Given the description of an element on the screen output the (x, y) to click on. 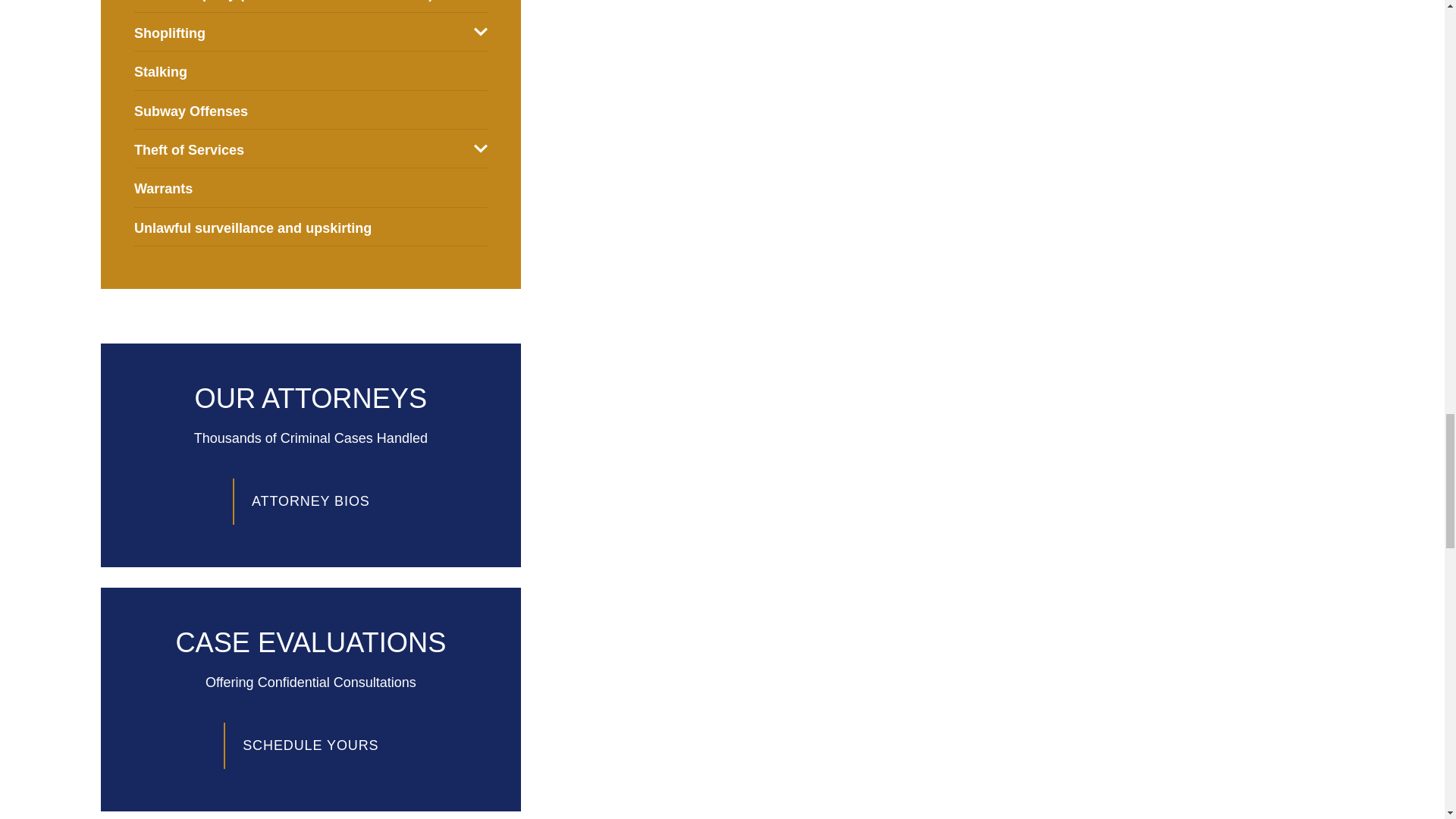
Open child menu of Theft of Services (480, 148)
Open child menu of Shoplifting (480, 31)
